Given the description of an element on the screen output the (x, y) to click on. 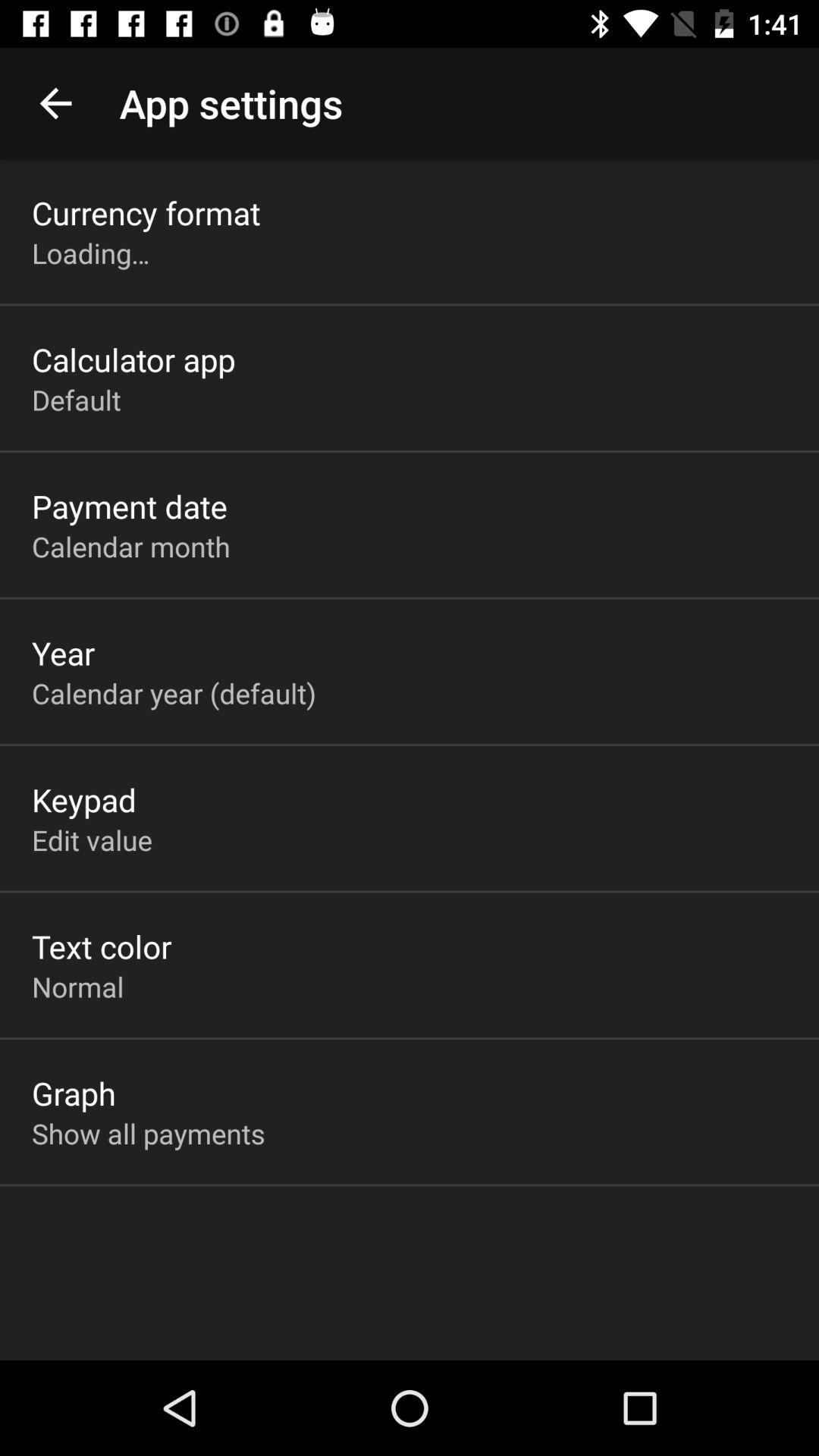
turn on the icon above the text color app (91, 839)
